Given the description of an element on the screen output the (x, y) to click on. 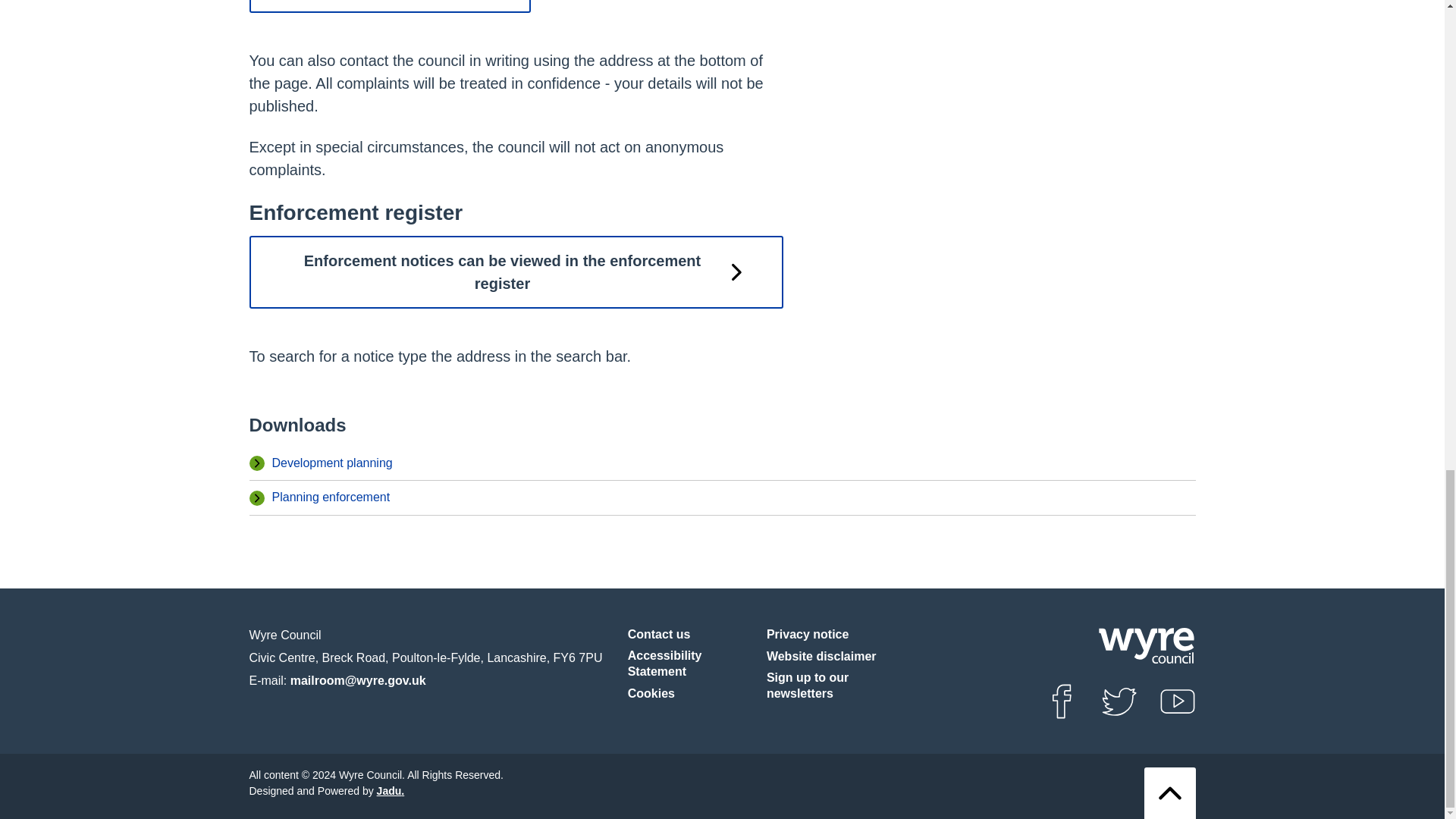
Accessibility Statement (690, 664)
Complaint report form (388, 6)
Website disclaimer (821, 657)
Development planning (732, 463)
Privacy notice (807, 634)
Contact us (658, 634)
Cookies (651, 693)
Wyre Council Home Page (1145, 645)
Sign up to our newsletters (830, 685)
Find us on Facebook (1061, 701)
Planning enforcement (732, 497)
